Given the description of an element on the screen output the (x, y) to click on. 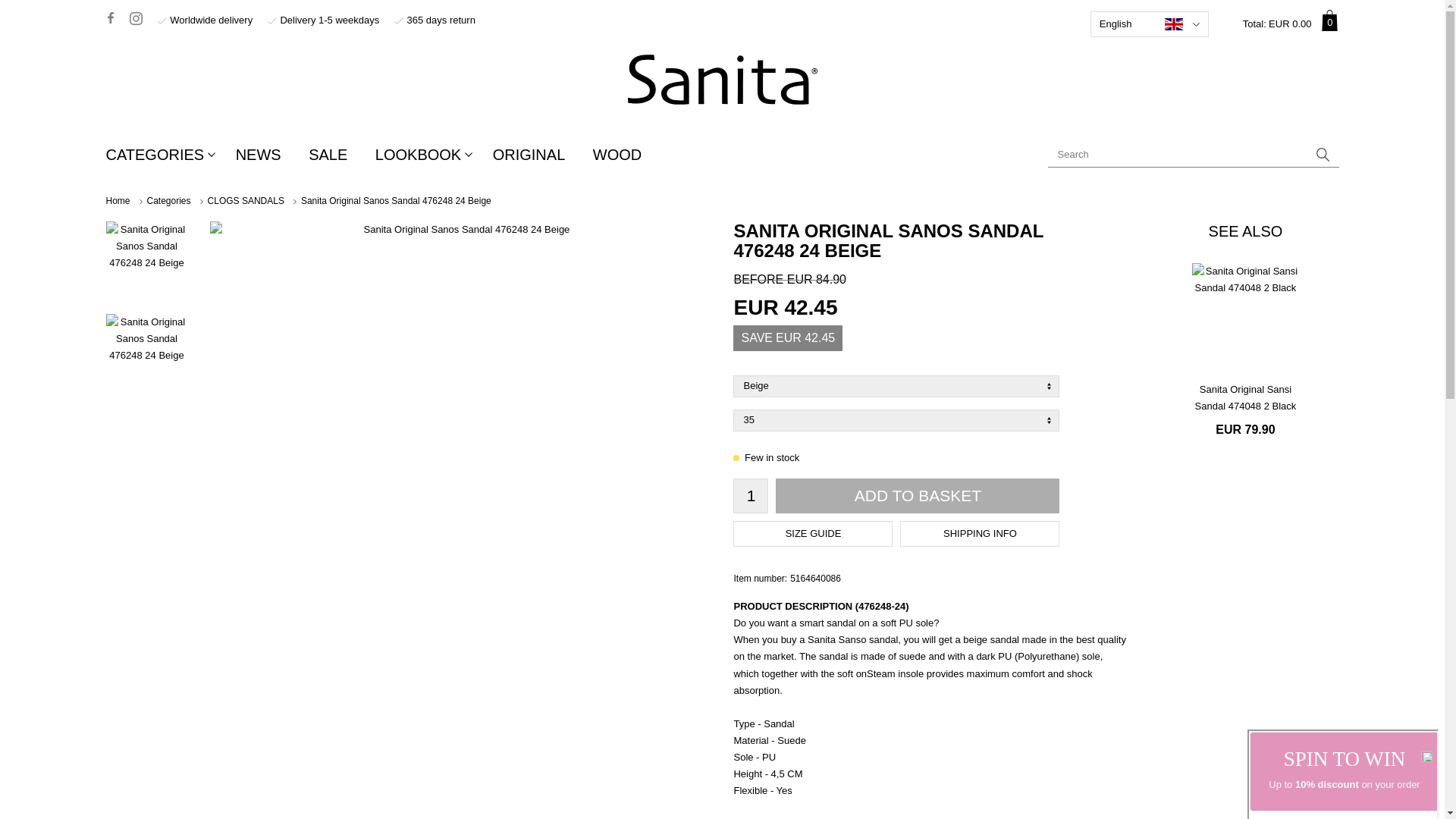
Search (1323, 154)
English (1149, 24)
Worldwide delivery (1286, 24)
Delivery 1-5 weekdays (205, 20)
Search (323, 20)
365 days return (1323, 154)
CATEGORIES (435, 20)
1 (168, 153)
